Given the description of an element on the screen output the (x, y) to click on. 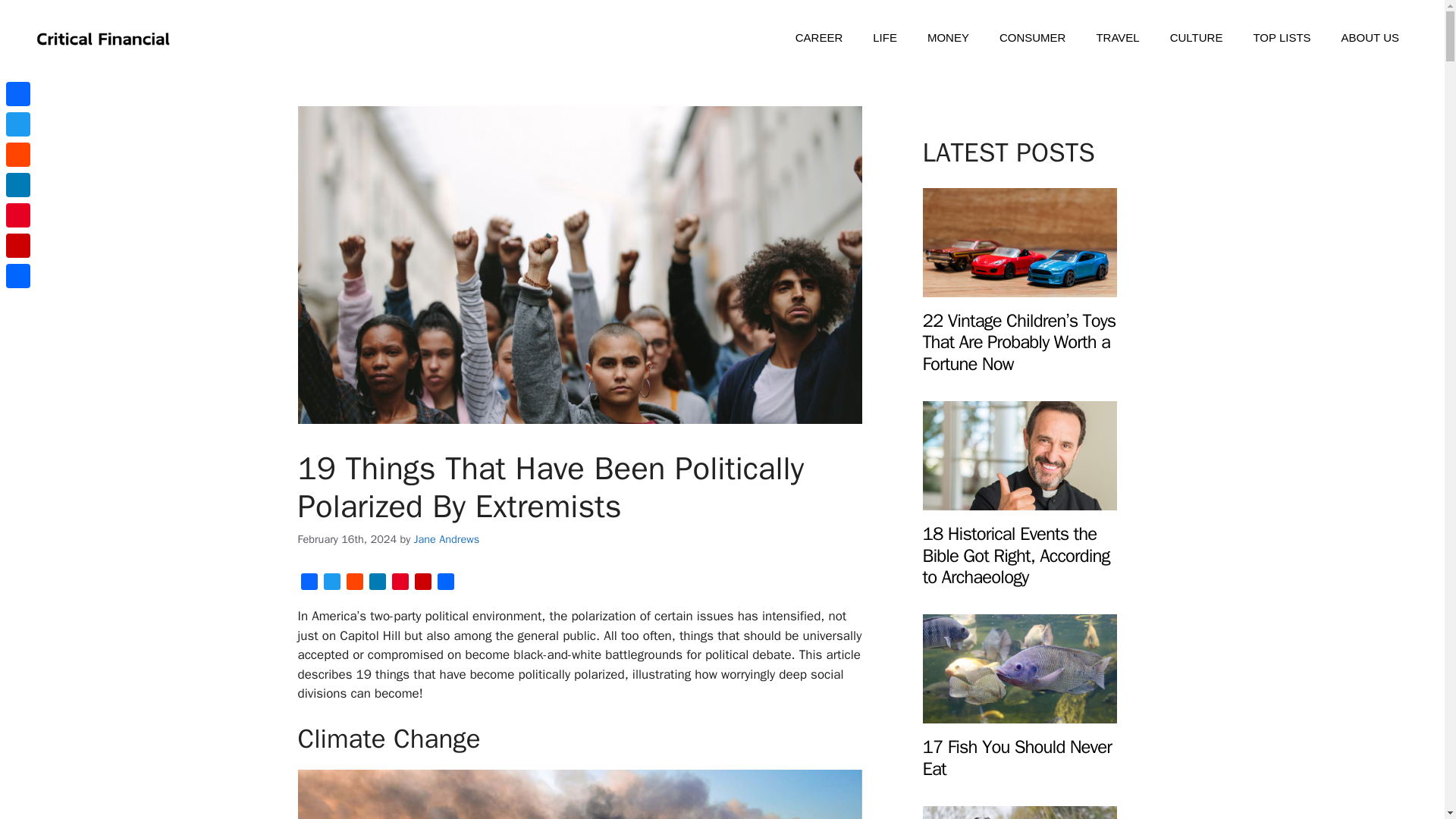
Flipboard (421, 583)
CULTURE (1196, 37)
Facebook (308, 583)
ABOUT US (1369, 37)
CONSUMER (1032, 37)
MONEY (948, 37)
LIFE (884, 37)
Facebook (17, 93)
TOP LISTS (1280, 37)
Twitter (331, 583)
